Given the description of an element on the screen output the (x, y) to click on. 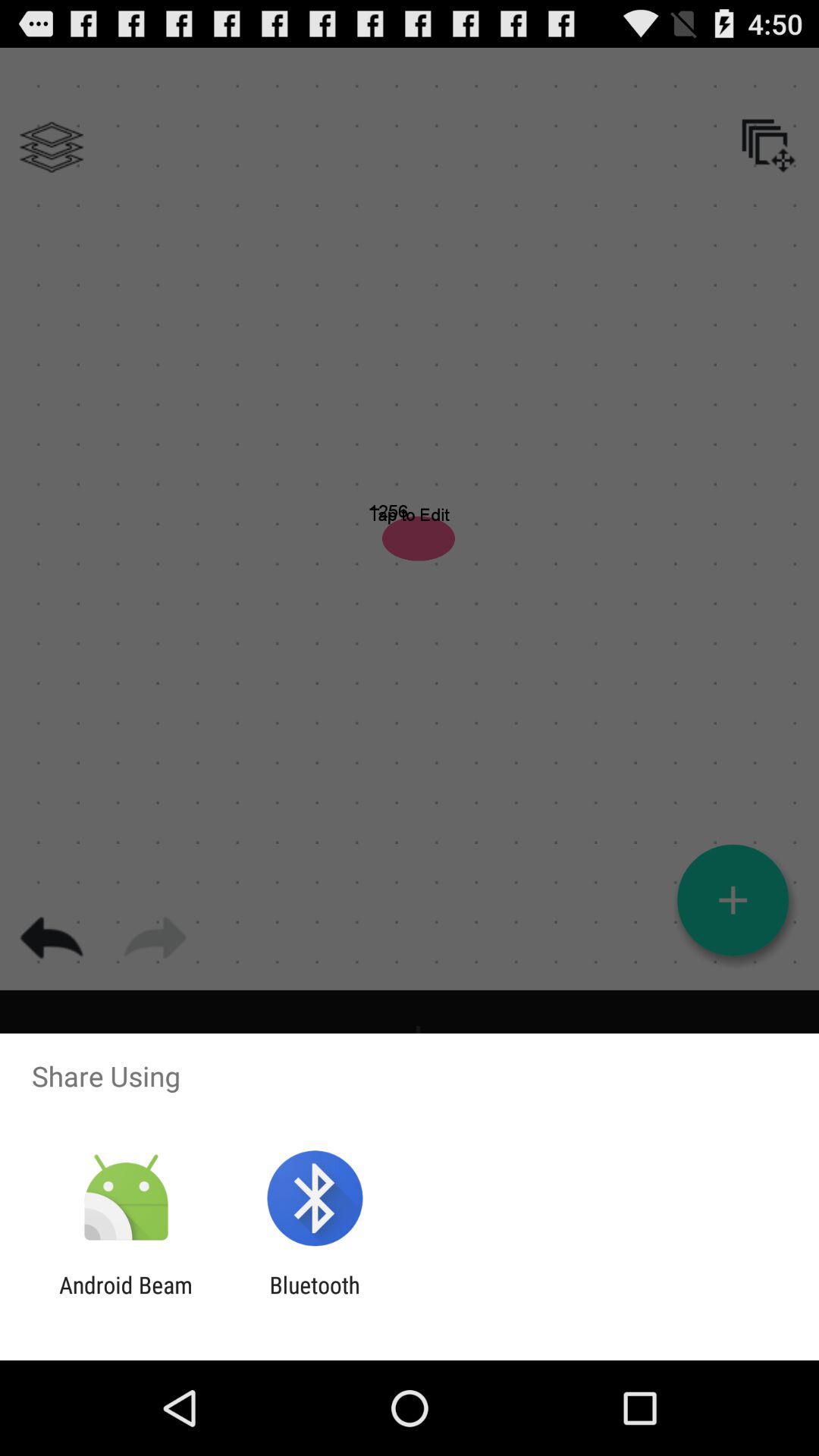
flip until the bluetooth app (314, 1298)
